Given the description of an element on the screen output the (x, y) to click on. 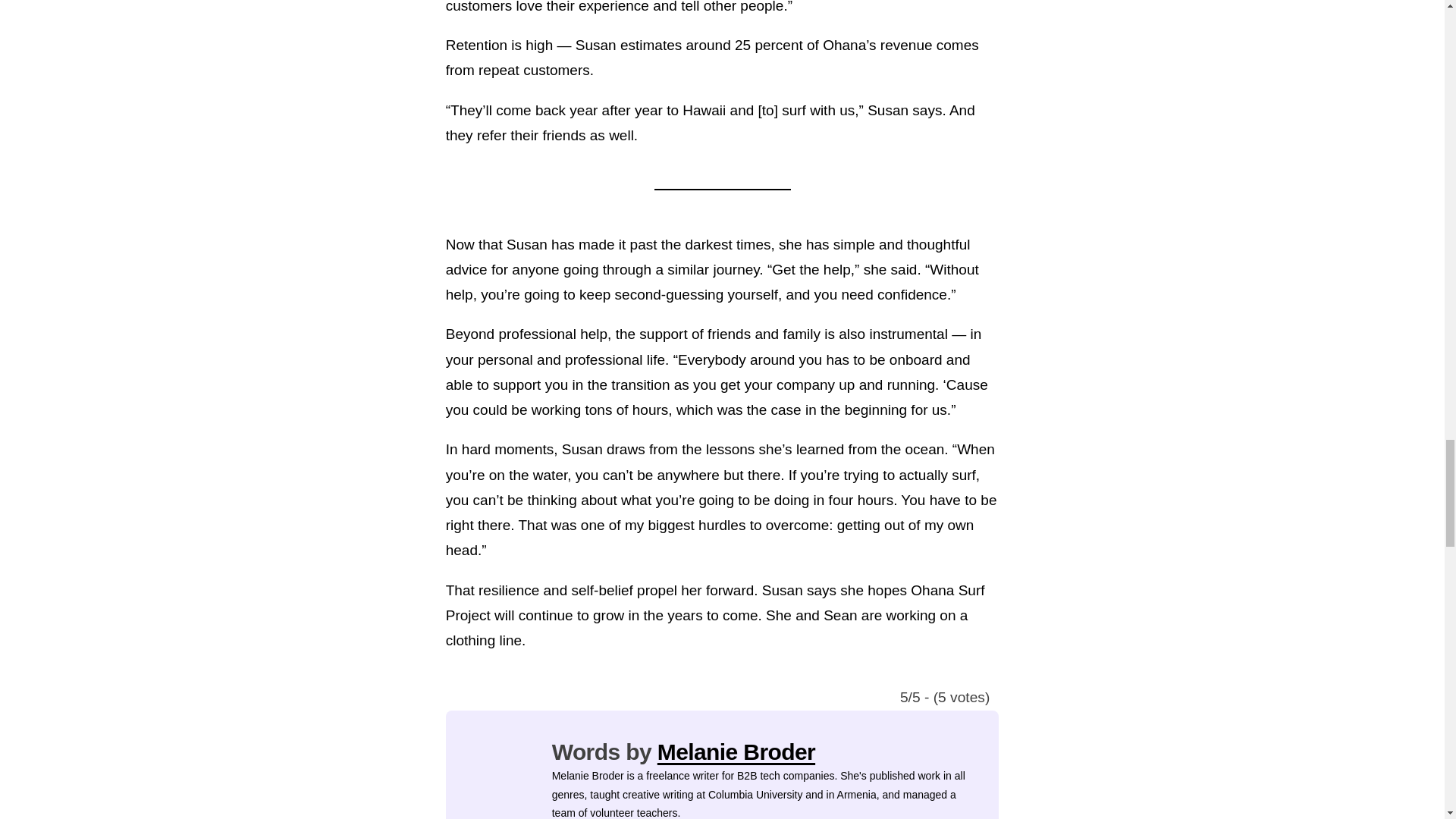
Posts by Melanie Broder (736, 751)
Melanie Broder (736, 751)
